Given the description of an element on the screen output the (x, y) to click on. 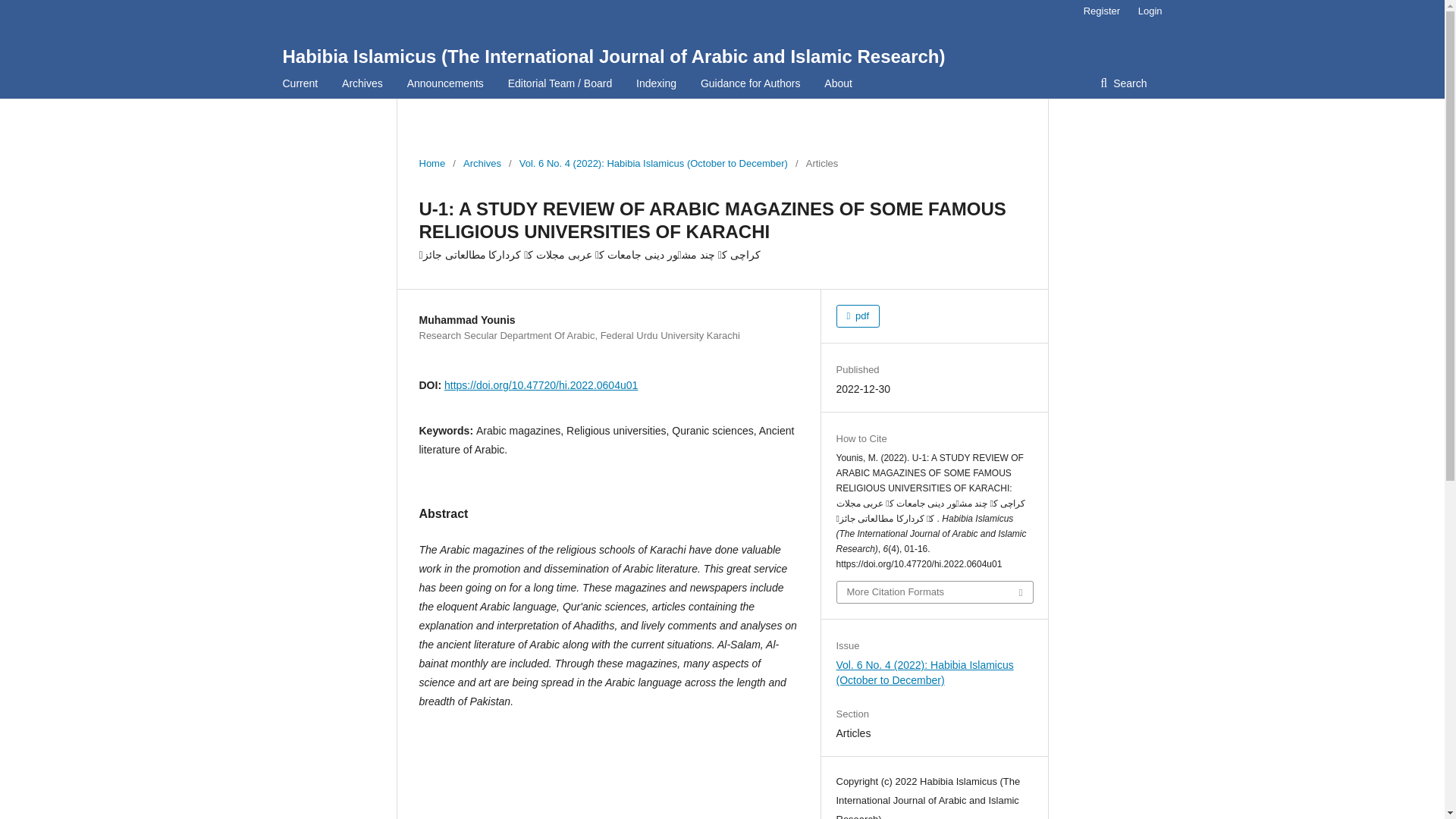
Home (432, 163)
Archives (481, 163)
pdf (857, 315)
Search (1122, 82)
Archives (362, 82)
More Citation Formats (934, 591)
Login (1146, 11)
About (837, 82)
Current (299, 82)
Indexing (656, 82)
Announcements (445, 82)
Guidance for Authors (750, 82)
Register (1100, 11)
